Given the description of an element on the screen output the (x, y) to click on. 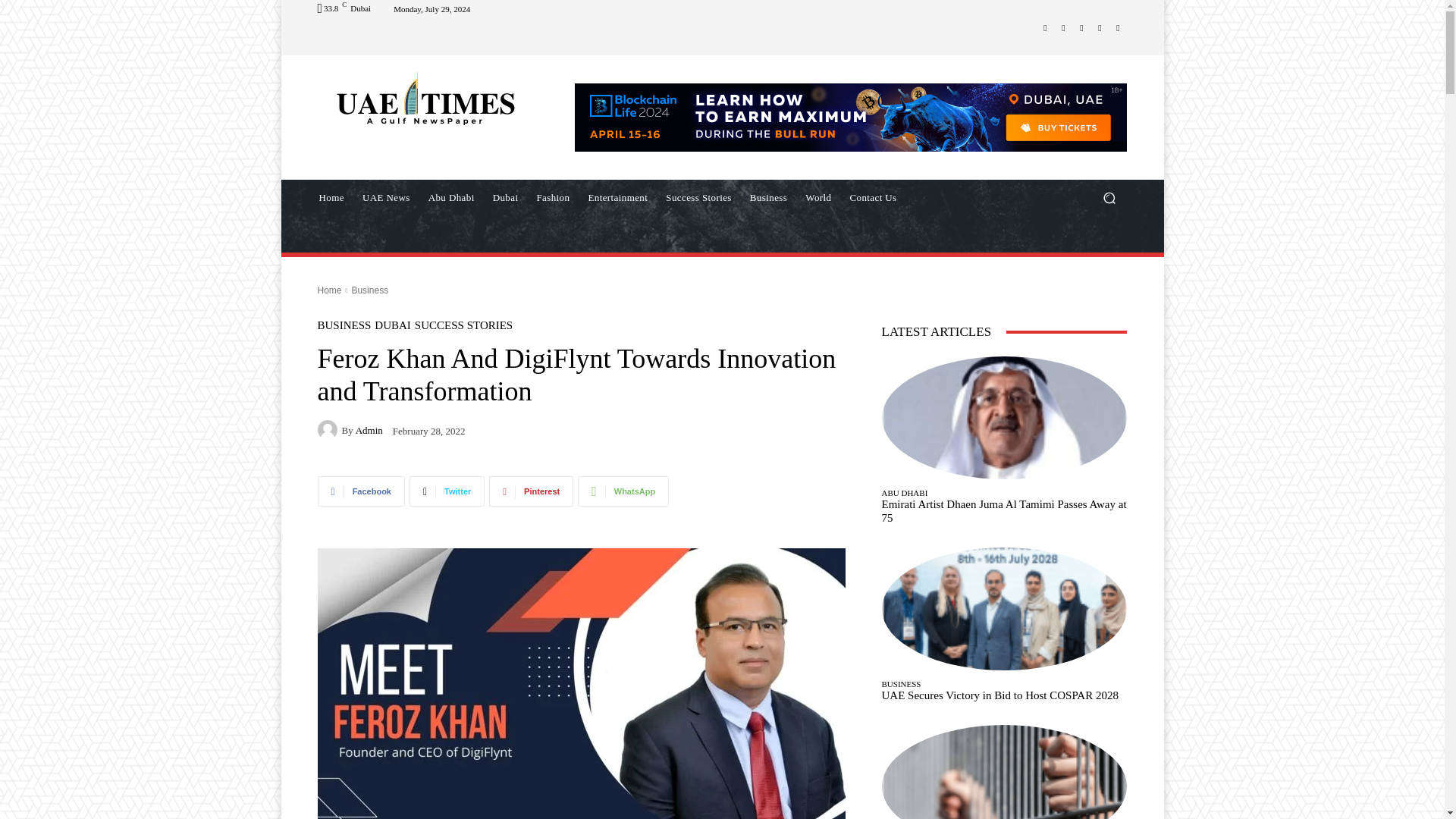
Business (768, 197)
Contact Us (872, 197)
Entertainment (617, 197)
Abu Dhabi (451, 197)
WhatsApp (1117, 27)
Mail (1080, 27)
World (818, 197)
Twitter (1099, 27)
Facebook (1044, 27)
Instagram (1062, 27)
Fashion (552, 197)
Dubai (505, 197)
UAE News (386, 197)
Home (330, 197)
Success Stories (698, 197)
